Given the description of an element on the screen output the (x, y) to click on. 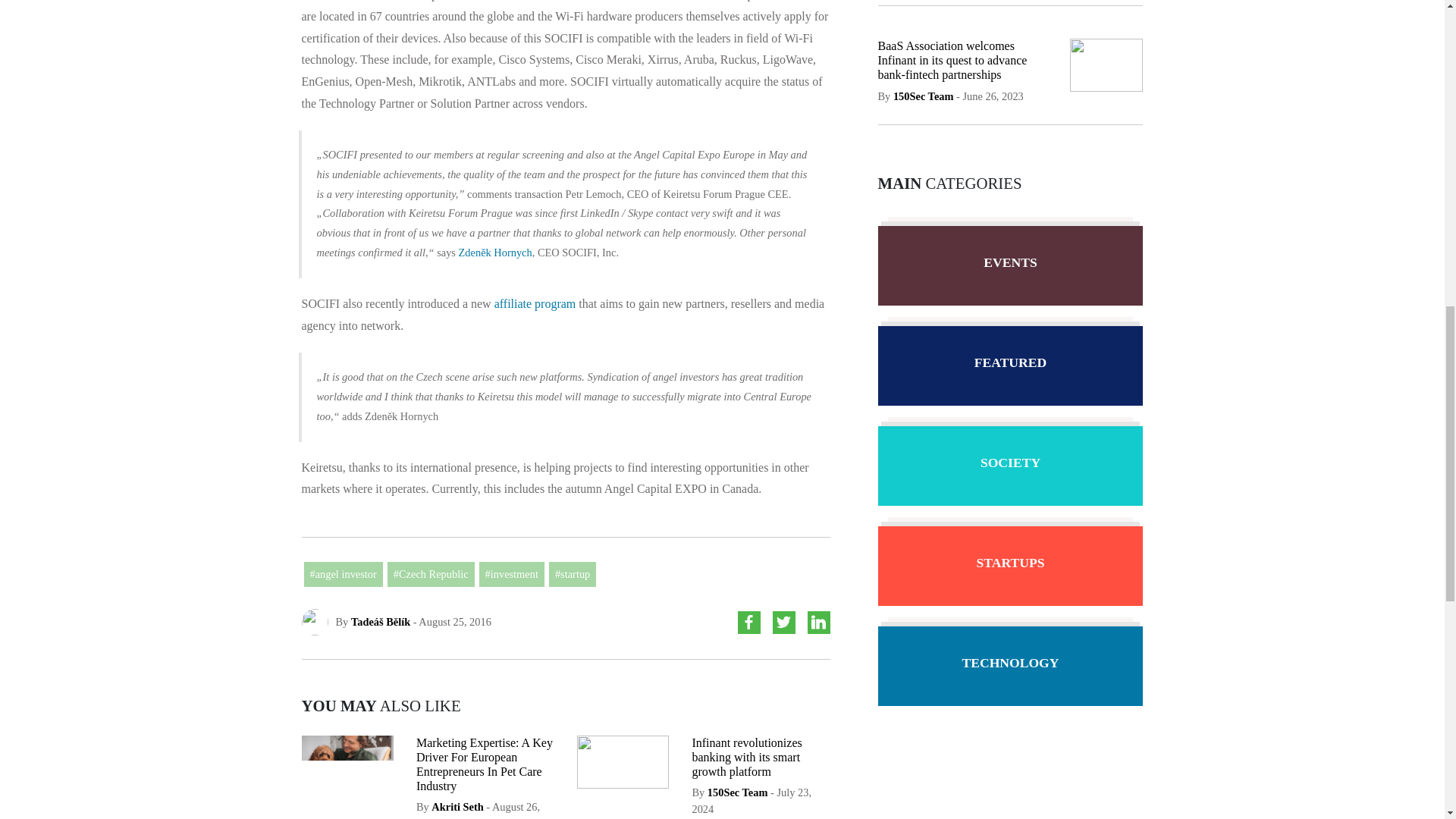
Akriti Seth (456, 806)
150Sec Team (737, 792)
affiliate program (535, 303)
